Given the description of an element on the screen output the (x, y) to click on. 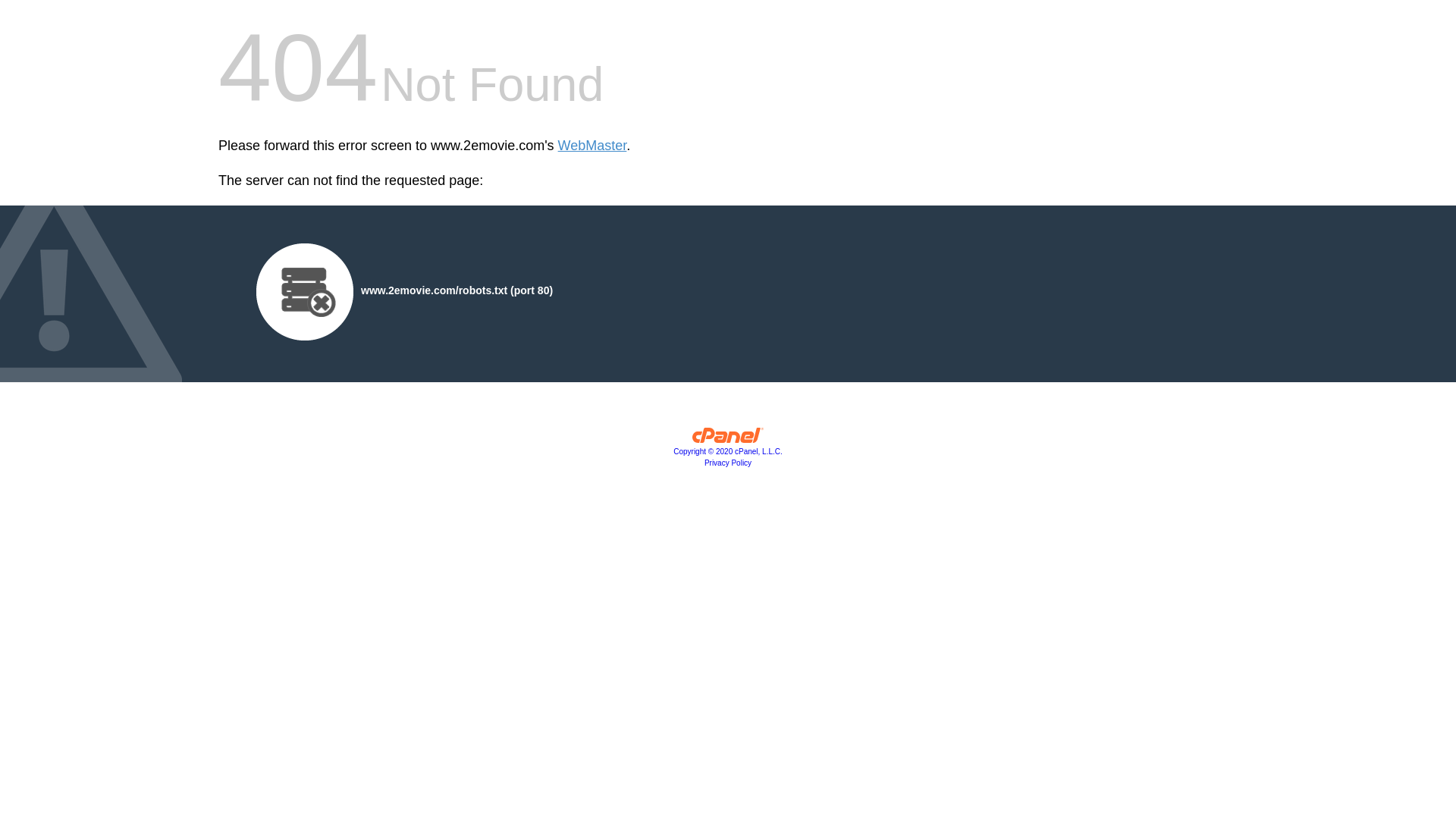
Privacy Policy Element type: text (727, 462)
WebMaster Element type: text (592, 145)
cPanel, Inc. Element type: hover (728, 439)
